Given the description of an element on the screen output the (x, y) to click on. 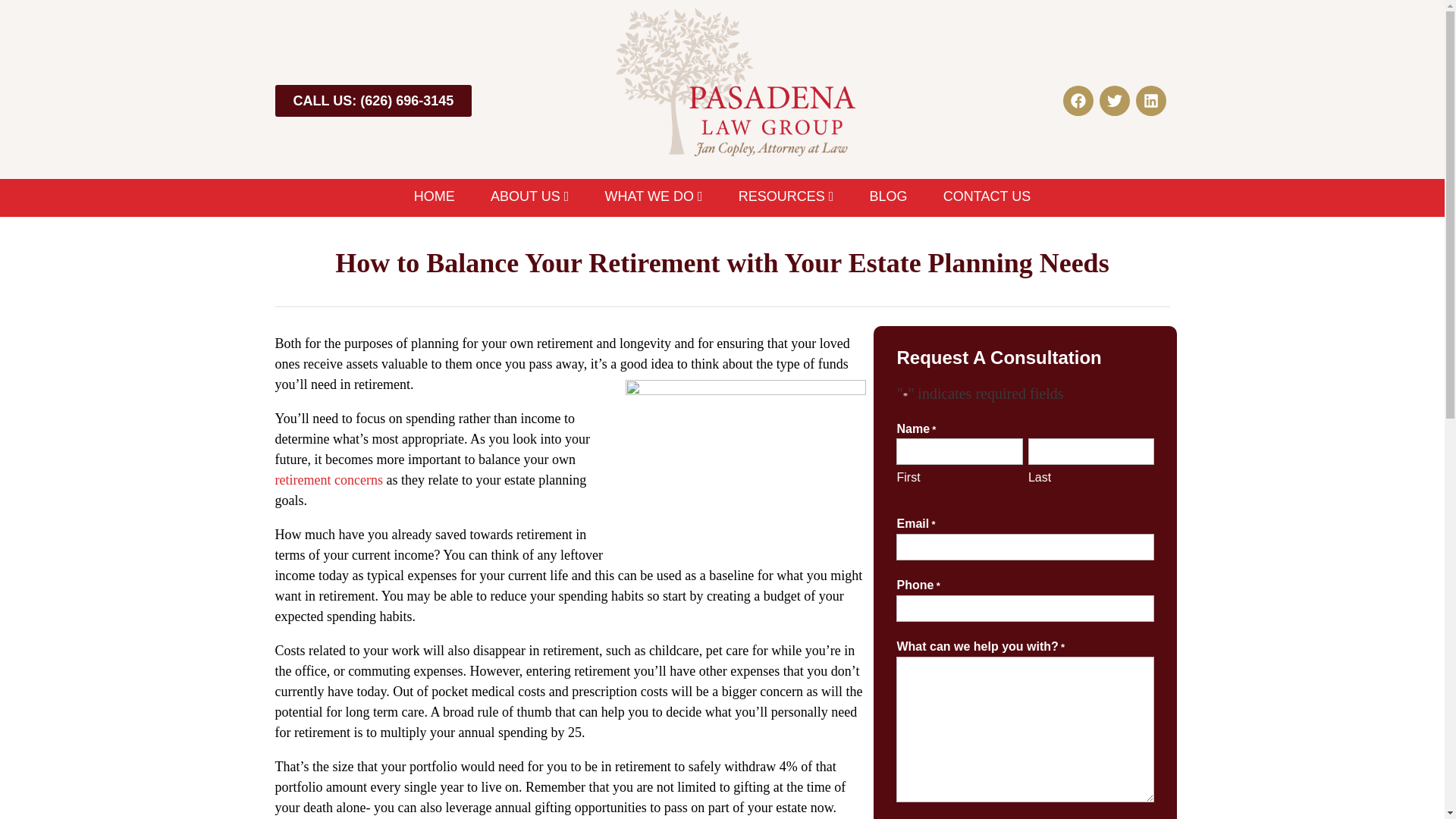
CONTACT US (977, 196)
retirement concerns (328, 479)
HOME (443, 196)
BLOG (887, 196)
